Given the description of an element on the screen output the (x, y) to click on. 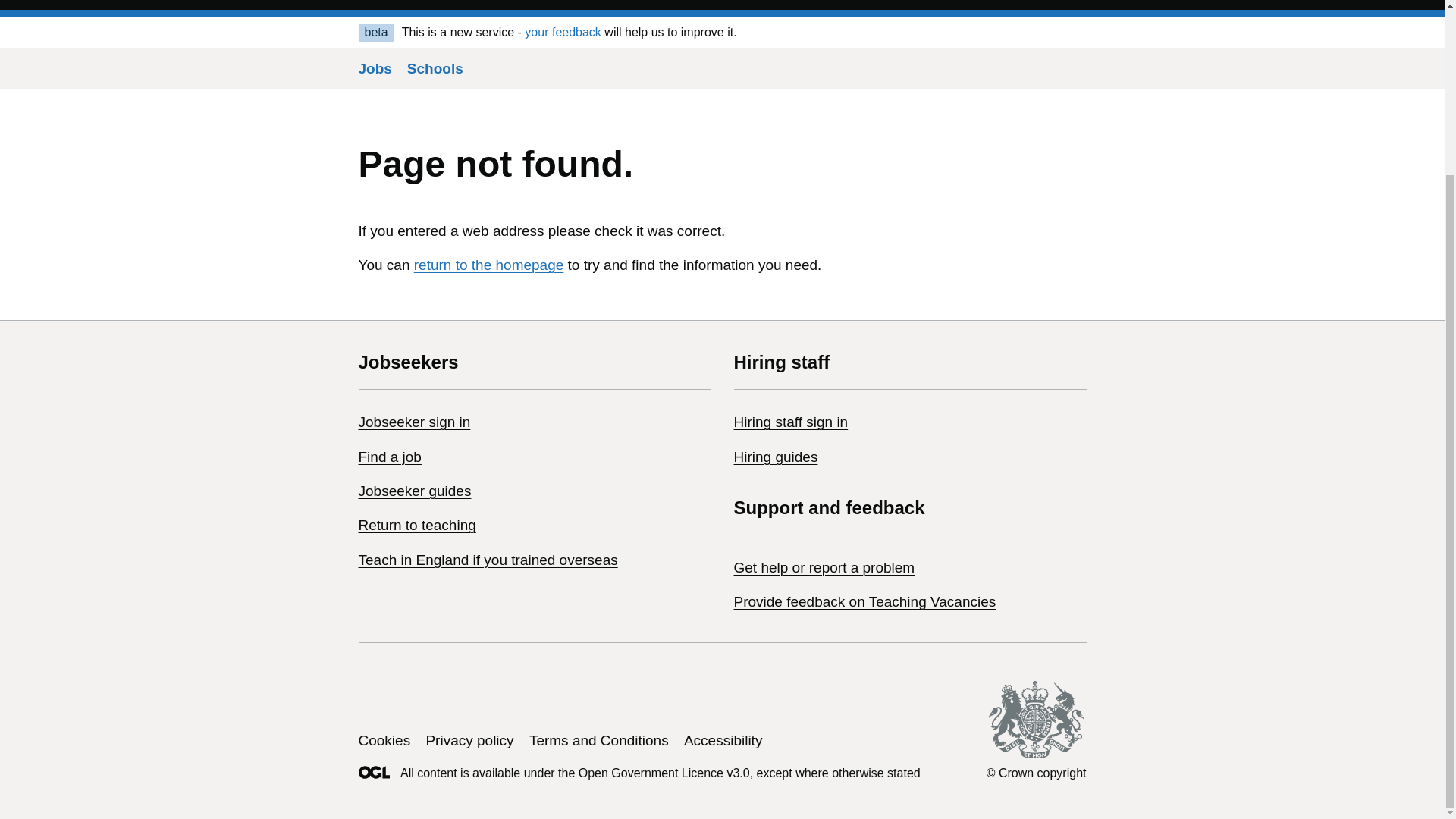
Terms and Conditions (598, 740)
Hiring staff sign in (790, 421)
return to the homepage (488, 264)
Find a job (389, 456)
Schools (435, 68)
Cookies (384, 740)
Teach in England if you trained overseas (487, 560)
Open Government Licence v3.0 (663, 772)
Hiring guides (775, 456)
Jobseeker sign in (414, 421)
